Given the description of an element on the screen output the (x, y) to click on. 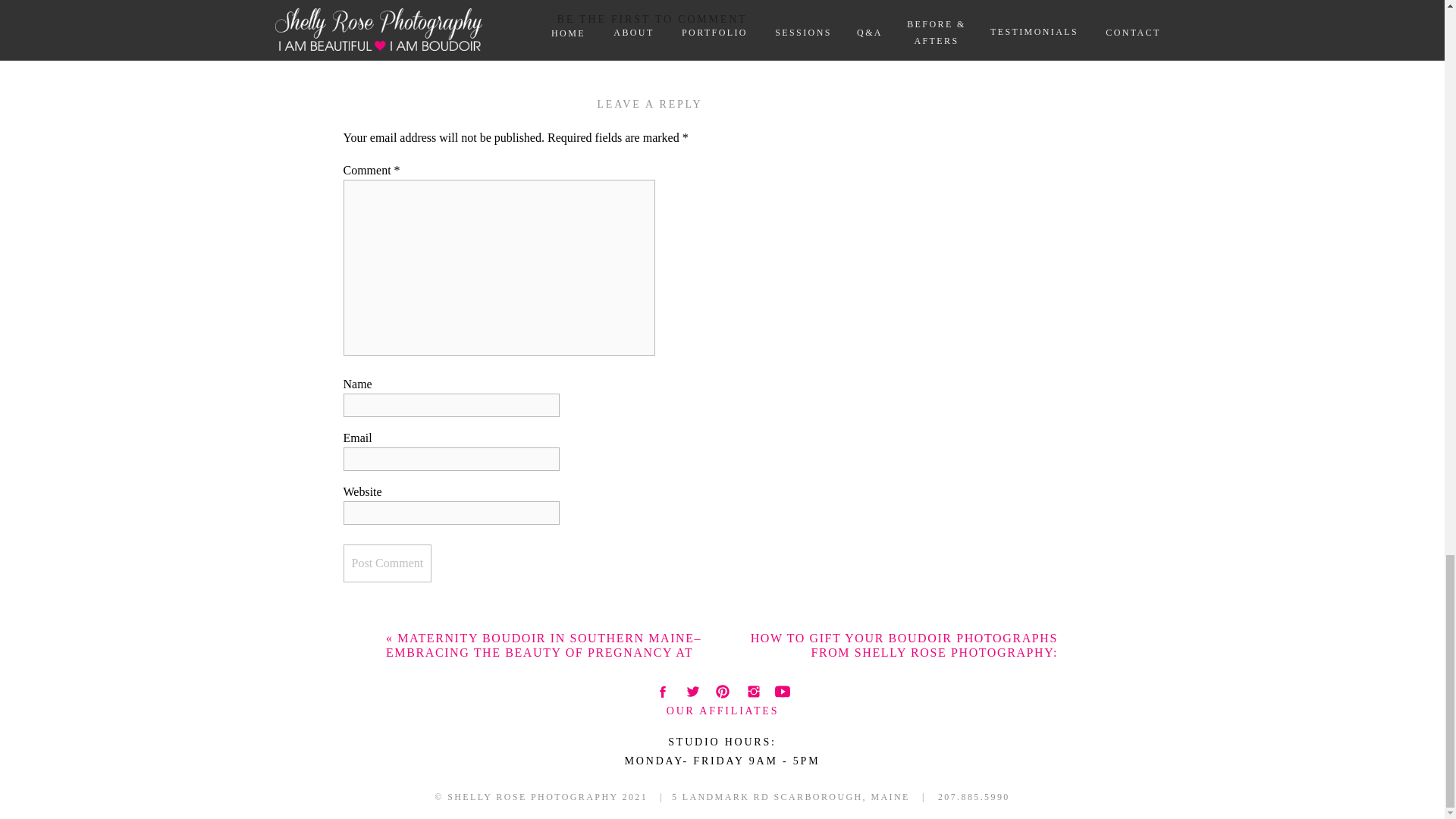
OUR AFFILIATES (723, 708)
Post Comment (386, 563)
Post Comment (722, 748)
BE THE FIRST TO COMMENT (386, 563)
